Given the description of an element on the screen output the (x, y) to click on. 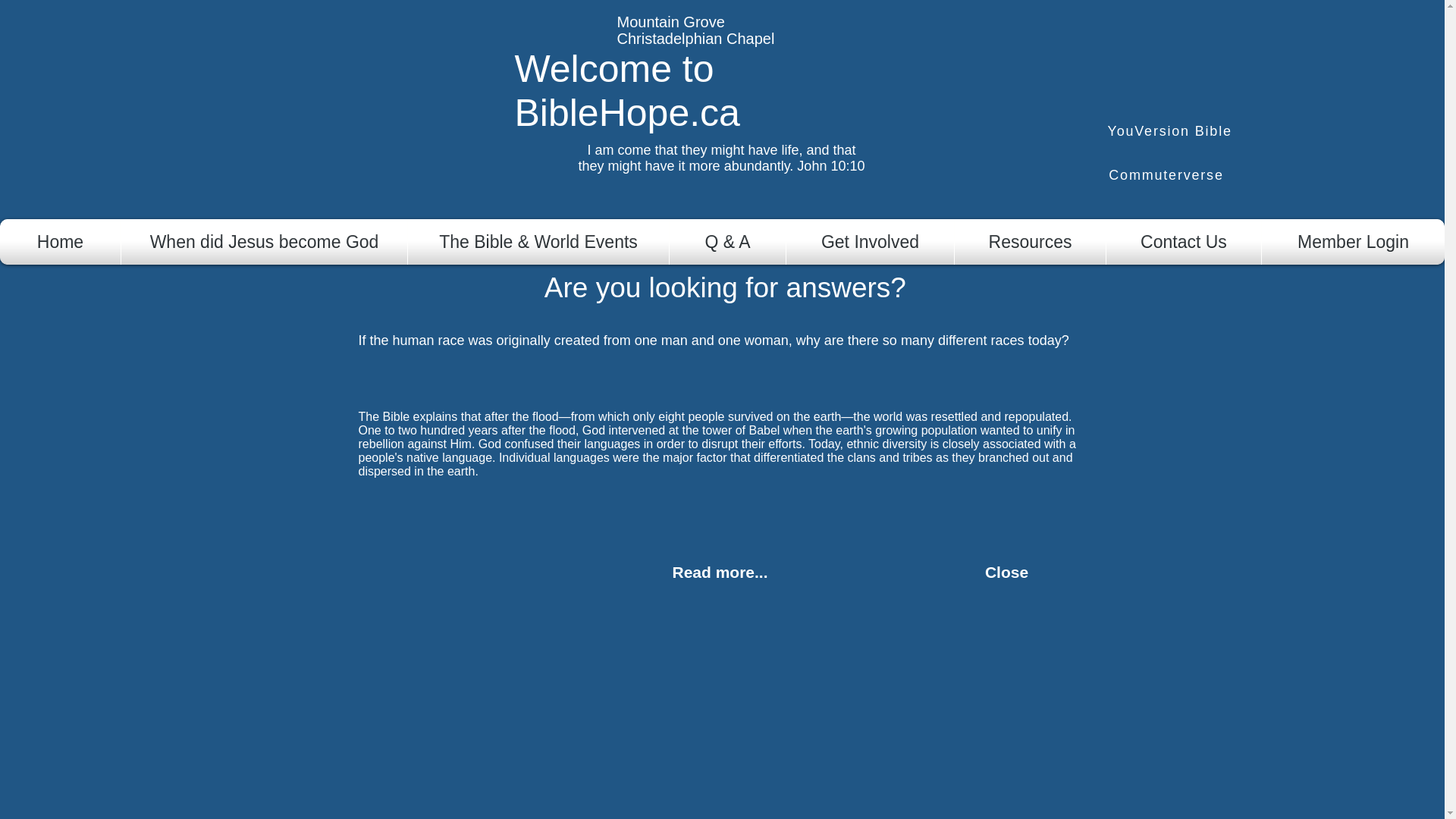
Resources (1030, 241)
When did Jesus become God (264, 241)
Close (1005, 572)
Member Login (1353, 241)
Get Involved (870, 241)
Contact Us (1183, 241)
Home (60, 241)
Commuterverse (1166, 174)
YouVersion Bible (1170, 130)
Read more... (719, 572)
